Given the description of an element on the screen output the (x, y) to click on. 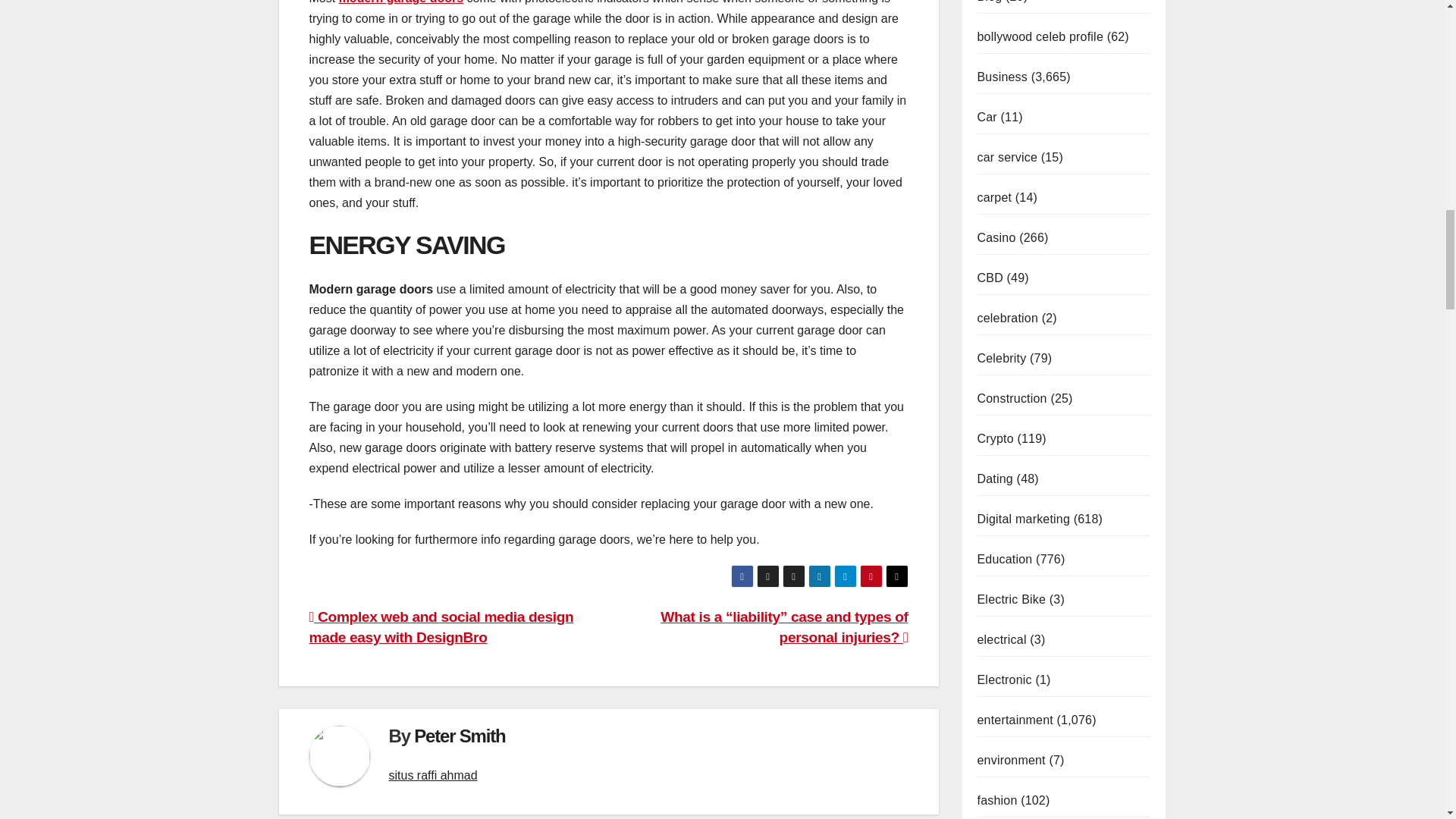
modern garage doors (401, 2)
Complex web and social media design made easy with DesignBro (440, 627)
Peter Smith (459, 735)
situs raffi ahmad (432, 775)
